Given the description of an element on the screen output the (x, y) to click on. 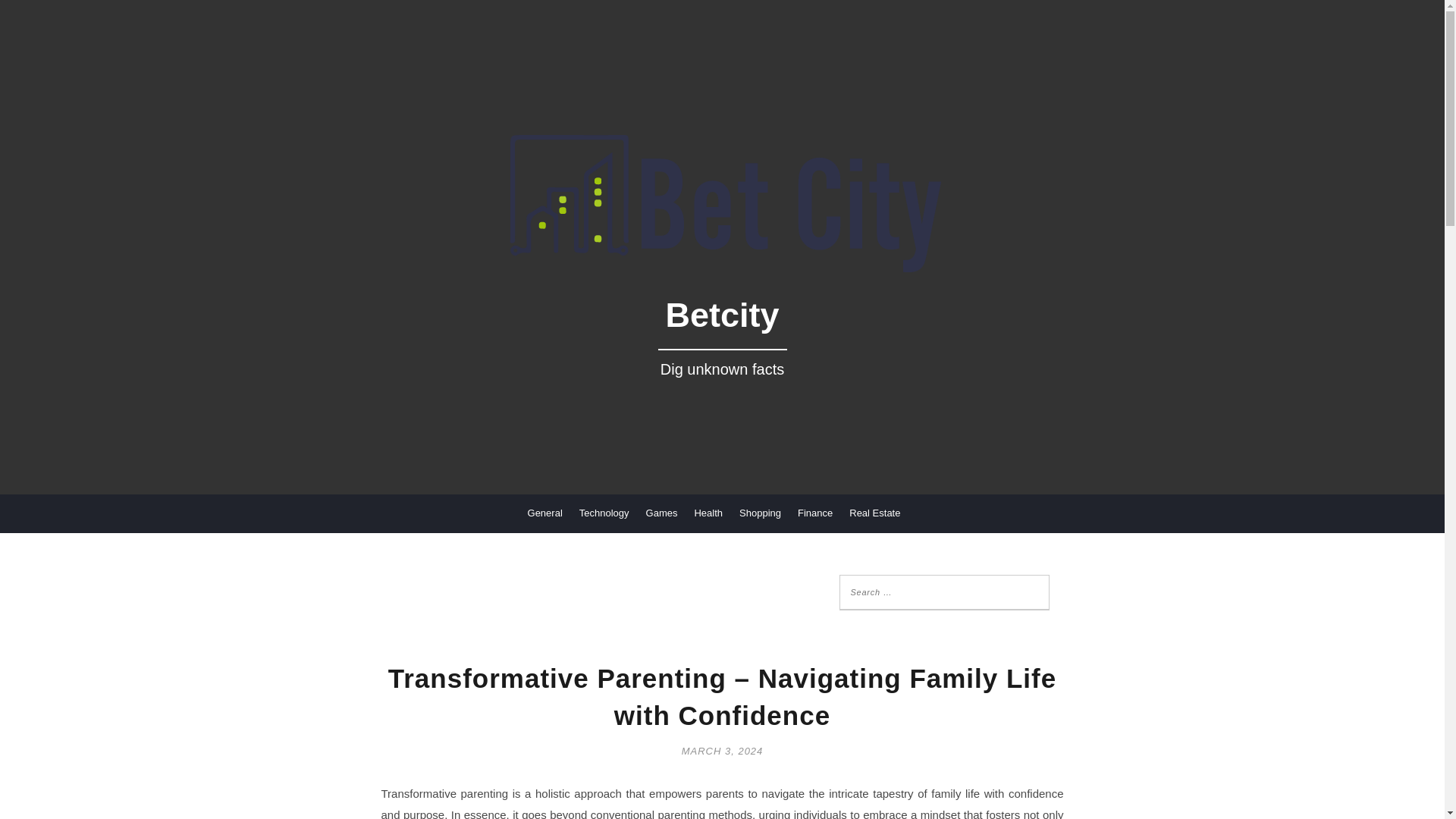
MARCH 3, 2024 (721, 749)
Finance (814, 513)
Betcity (721, 347)
General (544, 513)
Technology (603, 513)
Real Estate (873, 513)
Shopping (759, 513)
Search (30, 11)
